Given the description of an element on the screen output the (x, y) to click on. 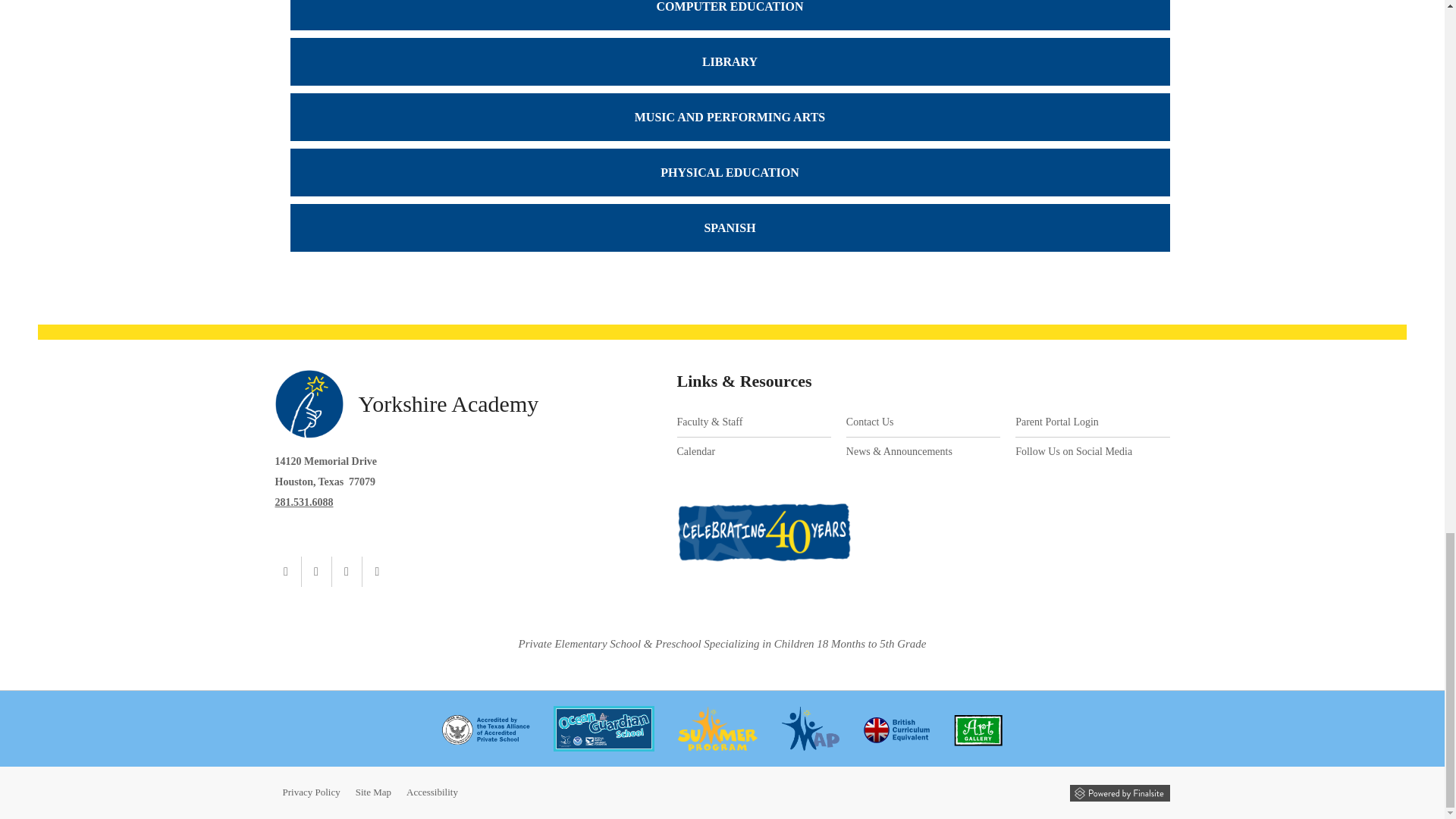
Powered by Finalsite opens in a new window (1118, 792)
